Given the description of an element on the screen output the (x, y) to click on. 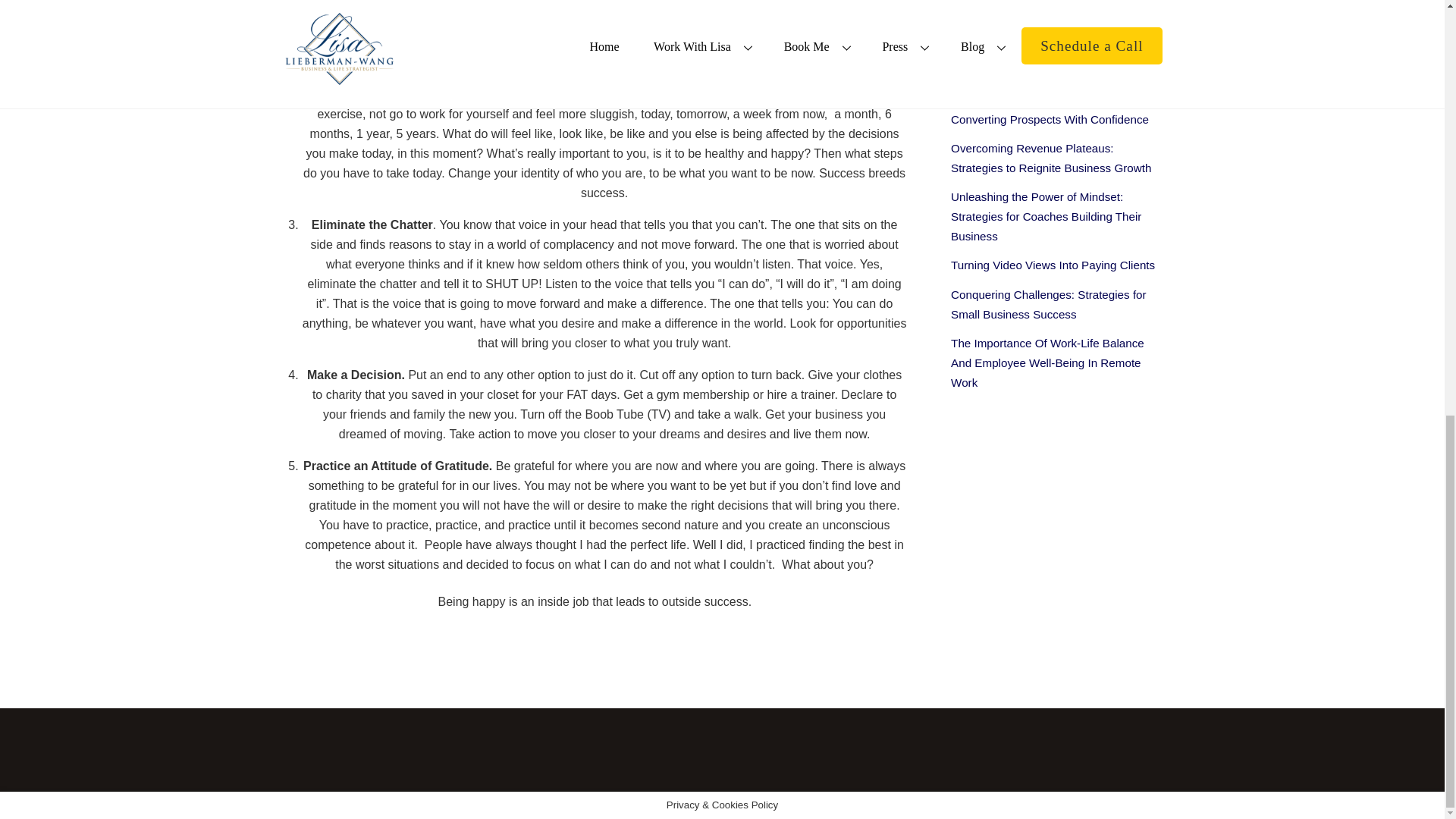
Converting Prospects With Confidence (1049, 119)
10 Productivity Tips for Independent Professional (1042, 31)
Time is Money: 12 Timewasters That Are Costing You Clients (1054, 80)
